Given the description of an element on the screen output the (x, y) to click on. 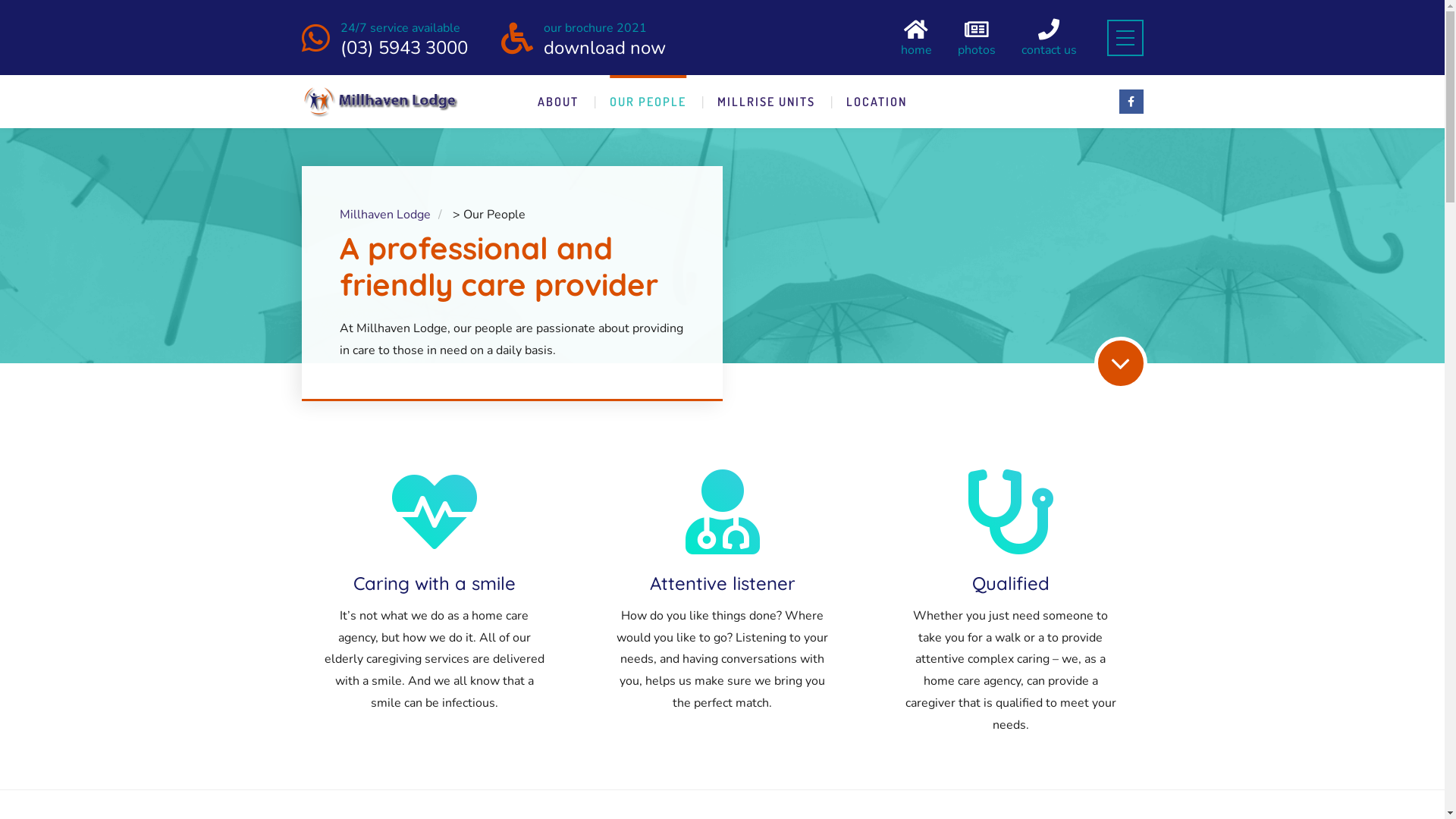
LOCATION Element type: text (876, 101)
Millhaven Lodge Element type: text (384, 214)
home Element type: text (915, 37)
OUR PEOPLE Element type: text (647, 101)
photos Element type: text (975, 37)
ABOUT Element type: text (557, 101)
our brochure 2021
download now Element type: text (603, 37)
24/7 service available
(03) 5943 3000 Element type: text (403, 37)
MILLRISE UNITS Element type: text (766, 101)
contact us Element type: text (1048, 37)
